Given the description of an element on the screen output the (x, y) to click on. 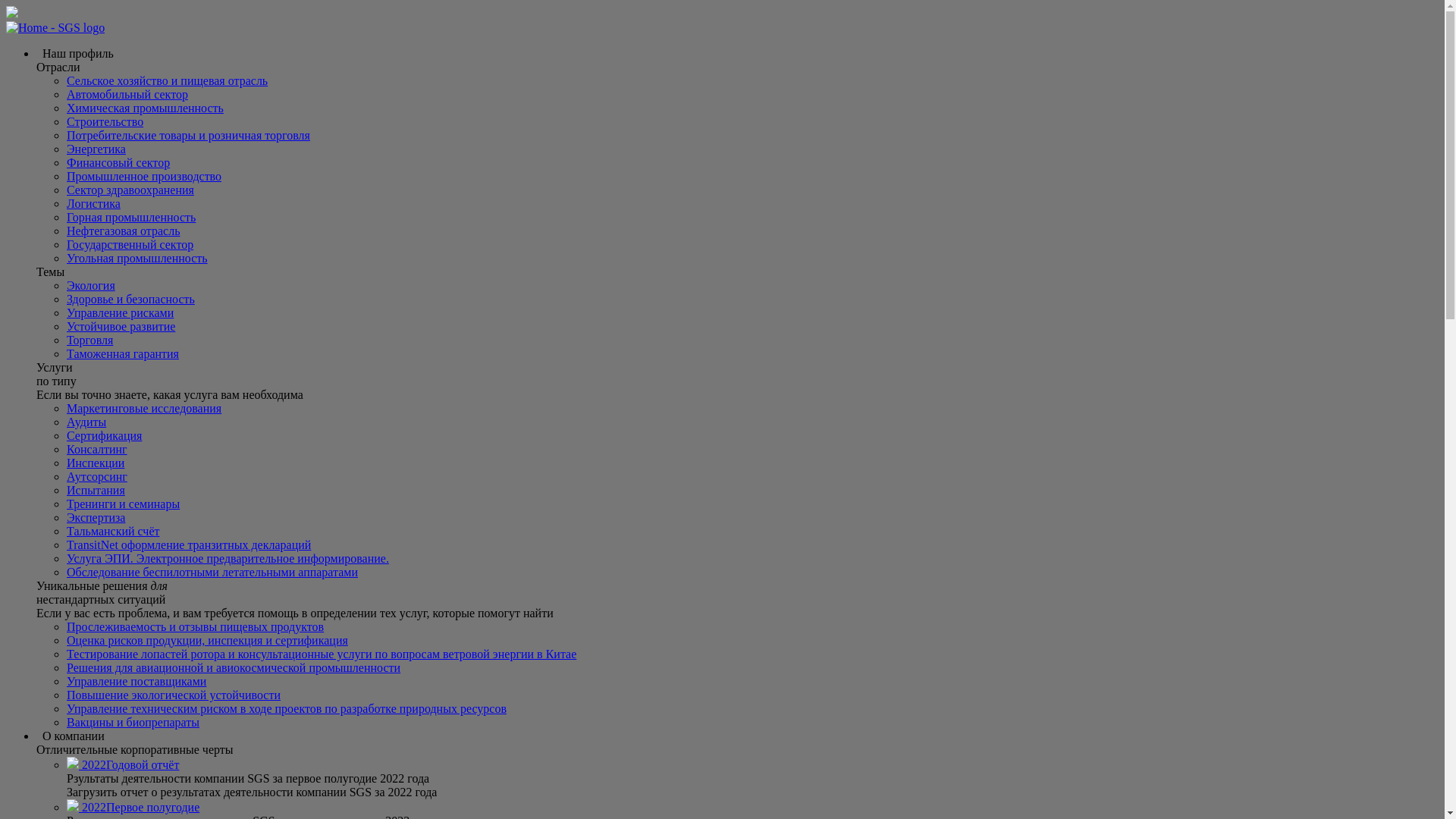
Home - SGS logo Element type: hover (55, 27)
Home - SGS logo Element type: hover (55, 27)
